Given the description of an element on the screen output the (x, y) to click on. 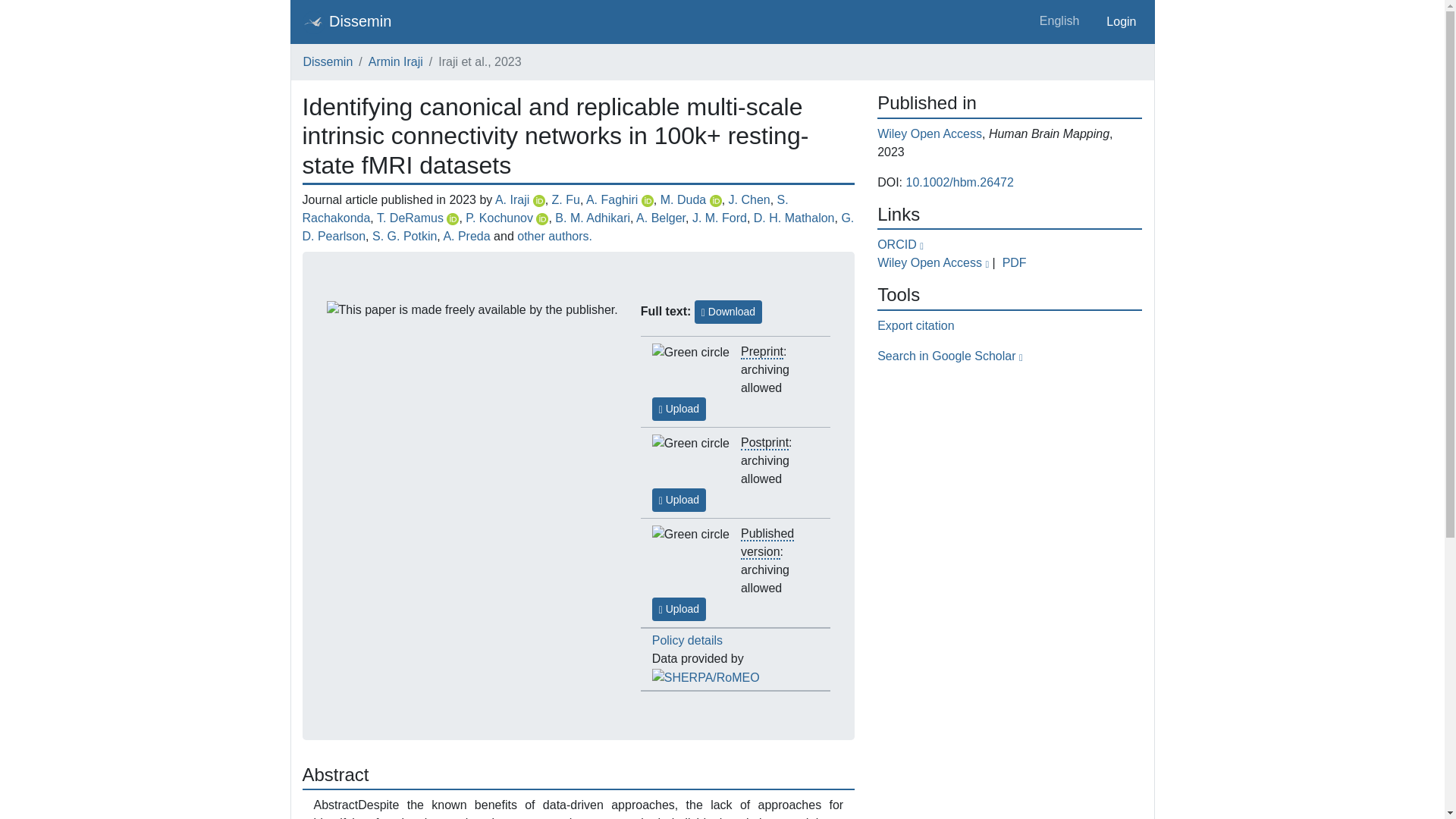
A. Iraji (512, 199)
A. Preda (465, 236)
Search in Google Scholar (949, 355)
S. G. Potkin (404, 236)
Dissemin (346, 21)
J. M. Ford (719, 217)
Armin Iraji (395, 61)
Wiley Open Access (934, 262)
Wiley Open Access (929, 133)
other authors. (554, 236)
T. DeRamus (410, 217)
Export citation (915, 325)
D. H. Mathalon (794, 217)
